Given the description of an element on the screen output the (x, y) to click on. 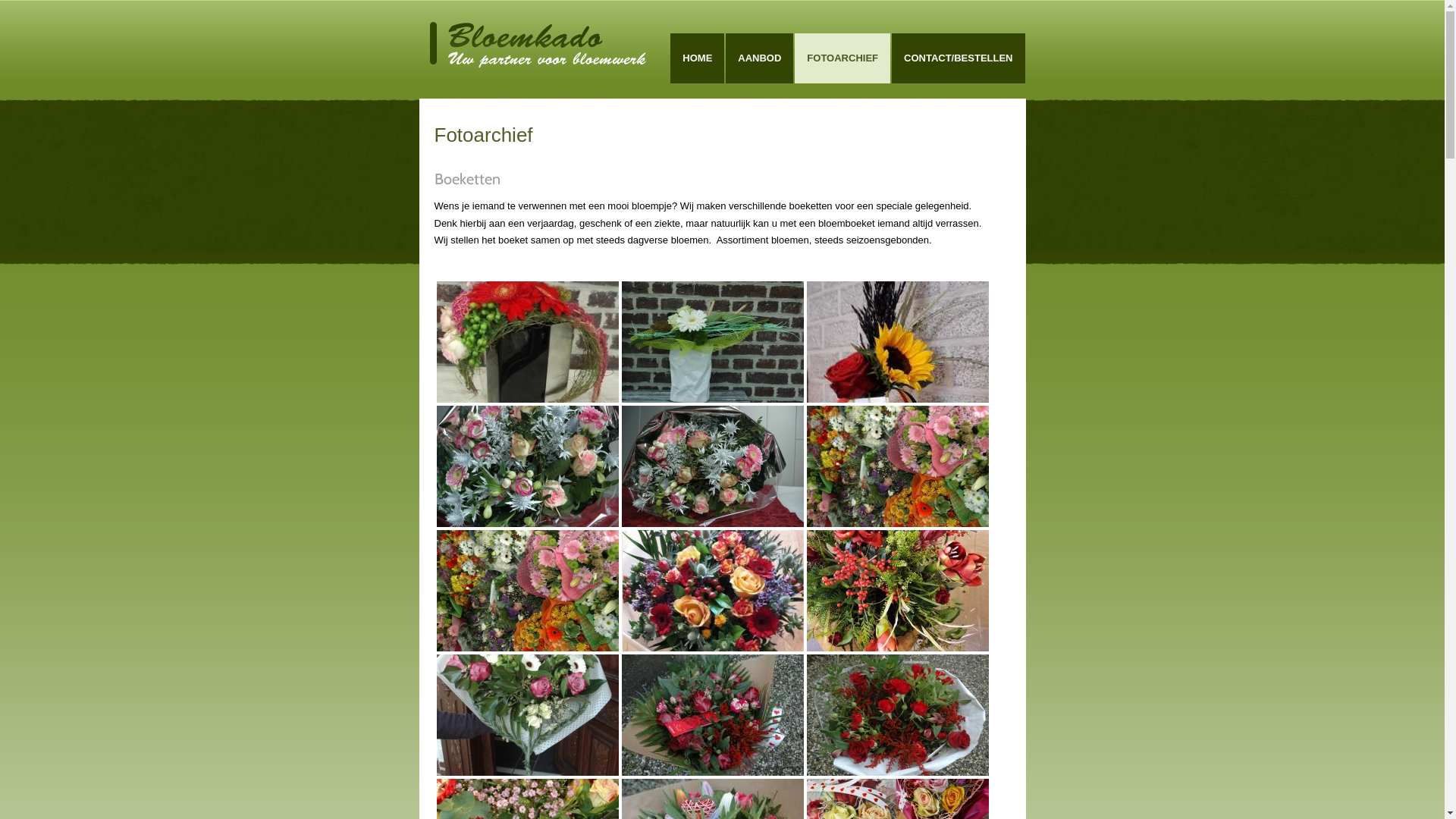
AANBOD Element type: text (759, 58)
Boeket Kerstmis detail | nr 7981 Element type: hover (527, 466)
KERST - Kleurig boeket | nr 6A12_120000 Element type: hover (897, 590)
FOTOARCHIEF Element type: text (842, 58)
CONTACT/BESTELLEN Element type: text (957, 58)
Boeket - Sint-Valentijn | nr 4770 Element type: hover (527, 714)
MOEDERDAG - Boeket, verschillende composities | nr dsc_8244 Element type: hover (527, 590)
Boeket met HERFSTKLEUREN | nr WA0002 Element type: hover (712, 590)
Boeket - Sint-Valentijn | nr 4741 Element type: hover (897, 714)
Boeket Sint Valentijn - assortiment | Nr 8244 Element type: hover (897, 466)
Bloemen compositie | Vaderdag / EURO2021 - 2021.boeket Element type: hover (897, 341)
Boeket Kerstmis | nr 7980 Element type: hover (712, 466)
HOME Element type: text (697, 58)
Boeket compositie | nr 5562 Element type: hover (712, 341)
Boeket compositie | nr 5564 Element type: hover (527, 341)
Boeket  Sint Valentijn | Nr 4740 Element type: hover (712, 714)
